Given the description of an element on the screen output the (x, y) to click on. 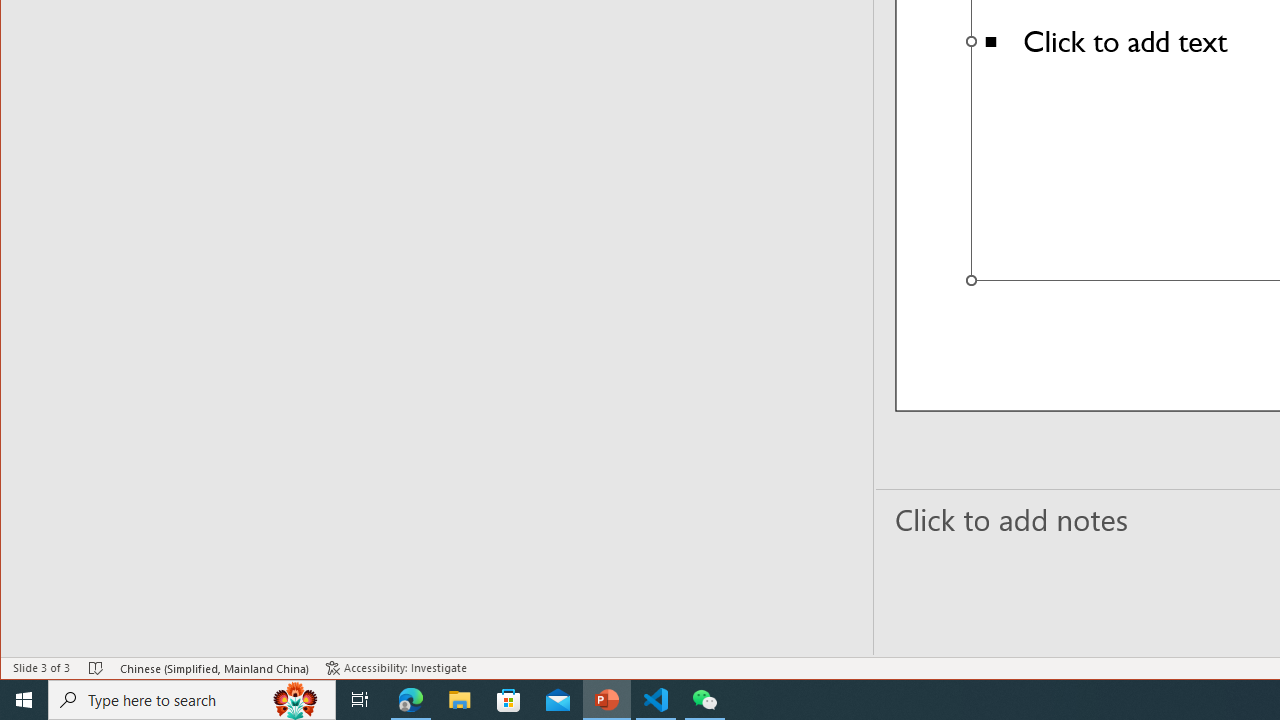
Search highlights icon opens search home window (295, 699)
Task View (359, 699)
Type here to search (191, 699)
Visual Studio Code - 1 running window (656, 699)
Microsoft Edge - 1 running window (411, 699)
File Explorer (460, 699)
Accessibility Checker Accessibility: Investigate (395, 668)
WeChat - 1 running window (704, 699)
Microsoft Store (509, 699)
Spell Check No Errors (96, 668)
Start (24, 699)
PowerPoint - 1 running window (607, 699)
